Given the description of an element on the screen output the (x, y) to click on. 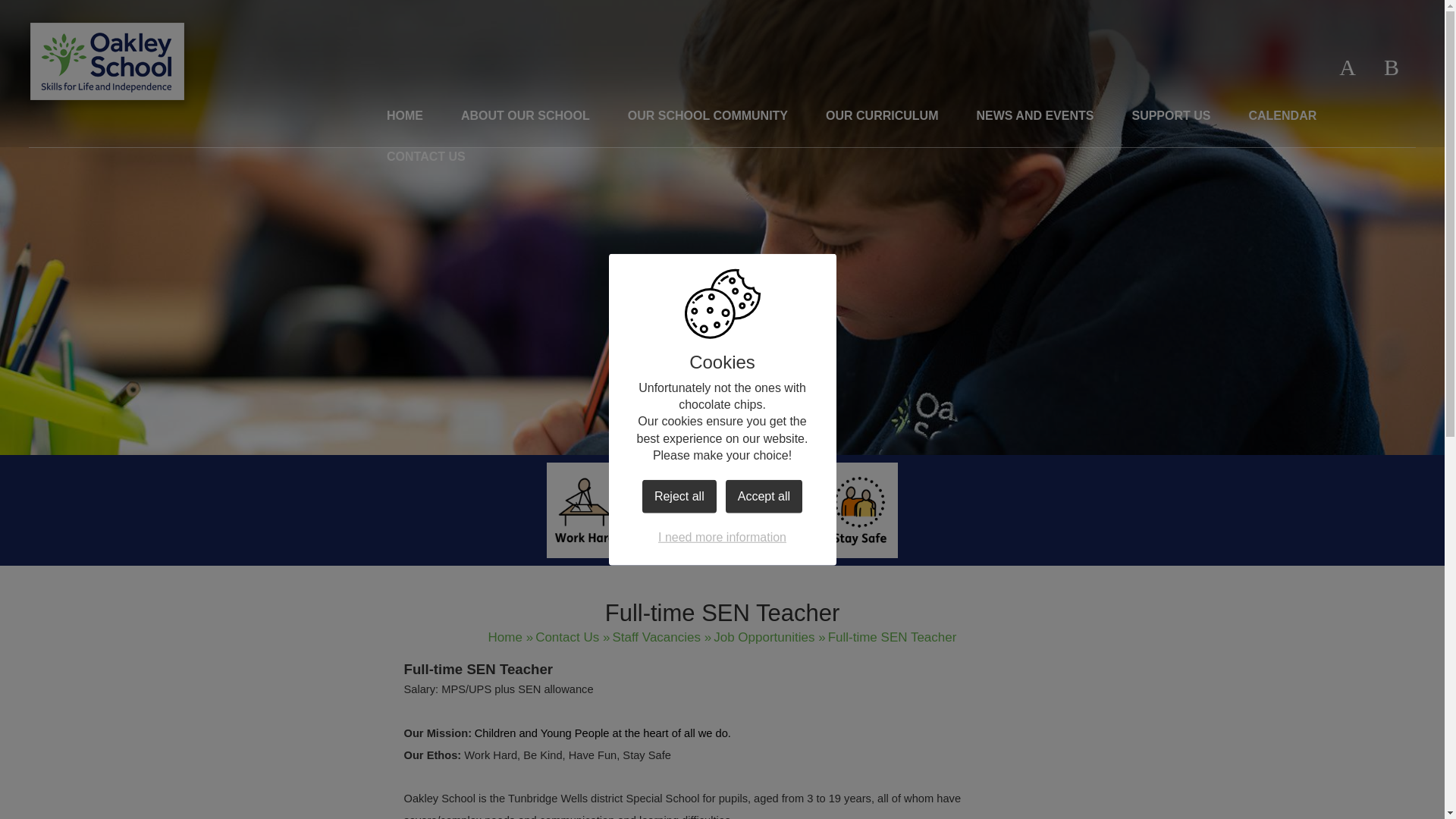
OUR SCHOOL COMMUNITY (707, 118)
Home Page (107, 60)
Home Page (107, 60)
HOME (405, 118)
ABOUT OUR SCHOOL (525, 118)
